Given the description of an element on the screen output the (x, y) to click on. 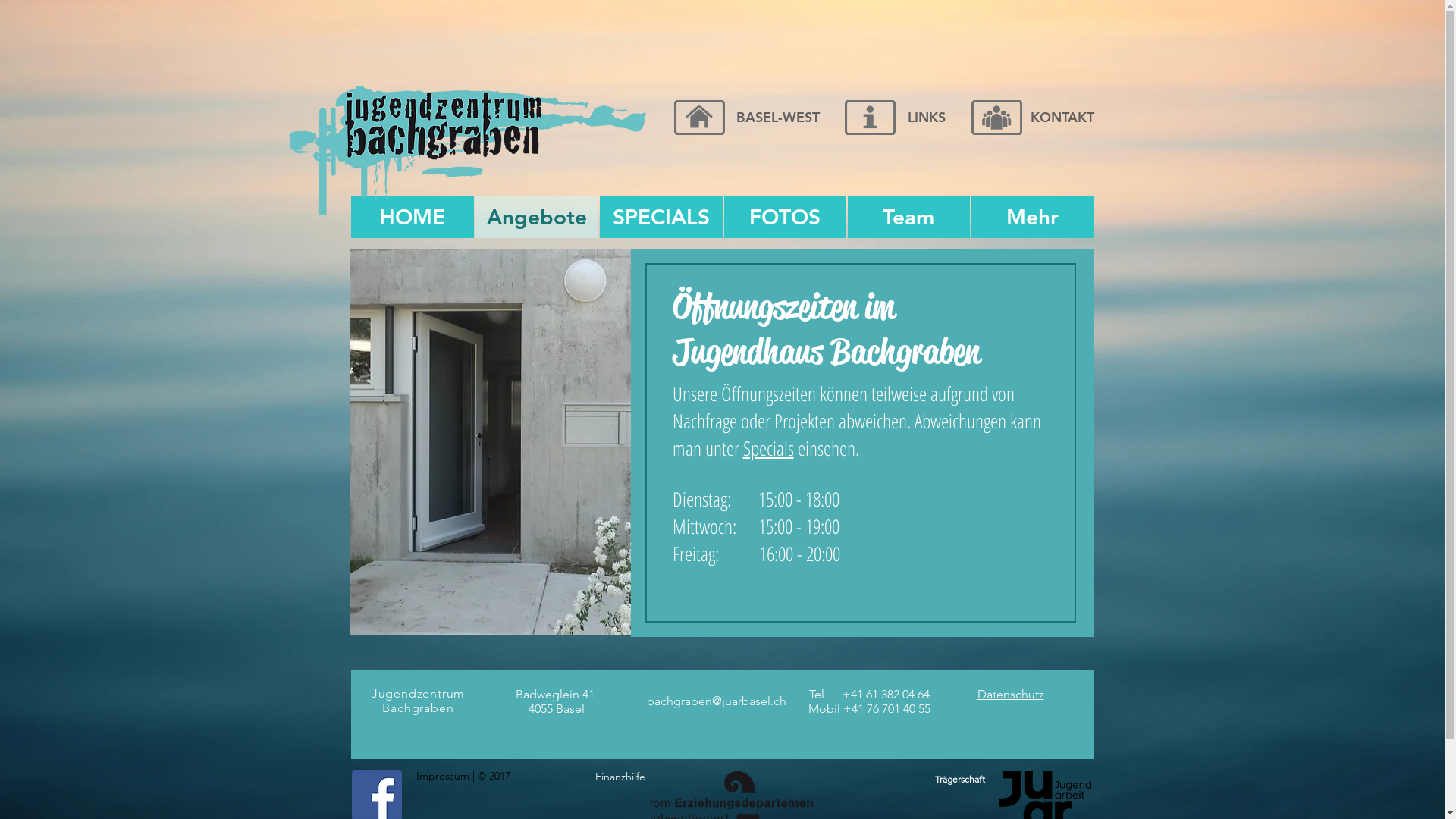
SPECIALS Element type: text (660, 216)
bachgraben@juarbasel.ch Element type: text (715, 700)
Team Element type: text (908, 216)
BASEL-WEST Element type: text (777, 116)
FOTOS Element type: text (784, 216)
Specials Element type: text (768, 447)
Finanzhilfe Element type: text (620, 776)
HOME Element type: text (411, 216)
KONTAKT Element type: text (1061, 116)
Angebote Element type: text (535, 216)
Datenschutz Element type: text (1009, 694)
LINKS Element type: text (925, 116)
